Given the description of an element on the screen output the (x, y) to click on. 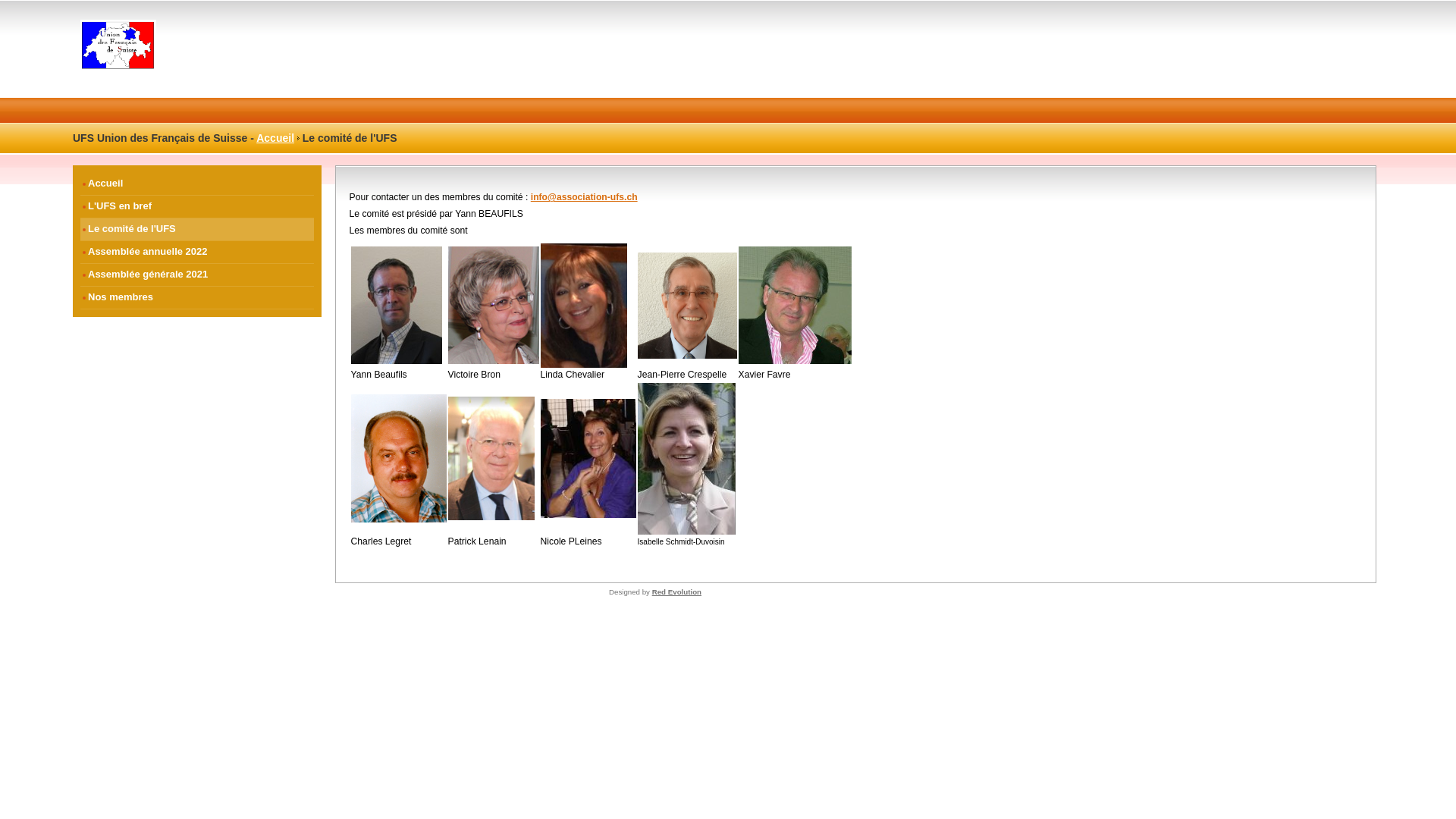
info@association-ufs.ch Element type: text (583, 196)
L'UFS en bref Element type: text (196, 206)
Nos membres Element type: text (196, 297)
Accueil Element type: text (275, 137)
Red Evolution Element type: text (676, 591)
Accueil Element type: text (196, 183)
